Given the description of an element on the screen output the (x, y) to click on. 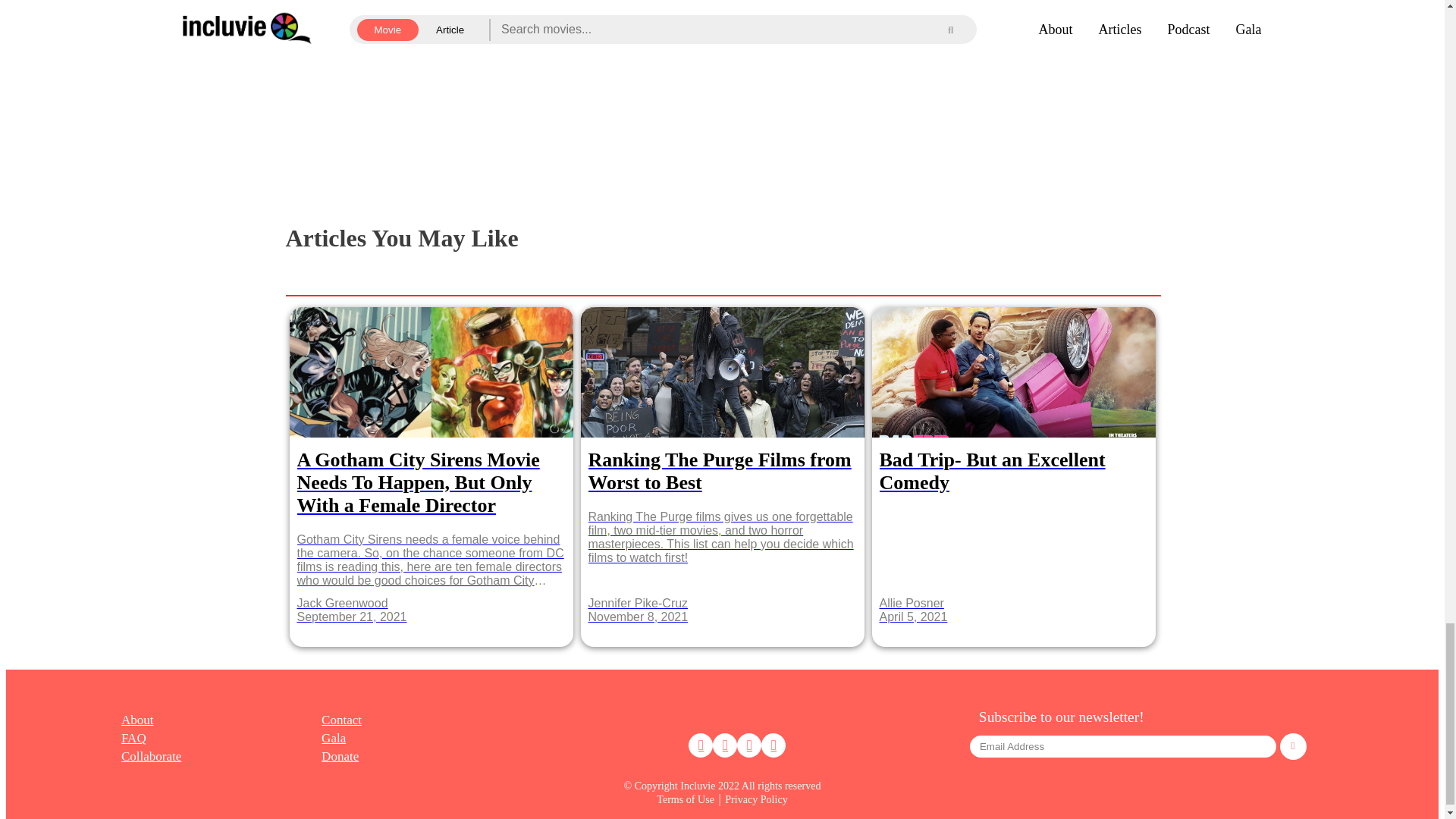
Send (1292, 746)
FAQ (133, 738)
Terms of Use (685, 799)
Gala (333, 738)
Collaborate (150, 756)
About (137, 719)
Contact (341, 719)
Donate (339, 756)
Privacy Policy (756, 799)
